Given the description of an element on the screen output the (x, y) to click on. 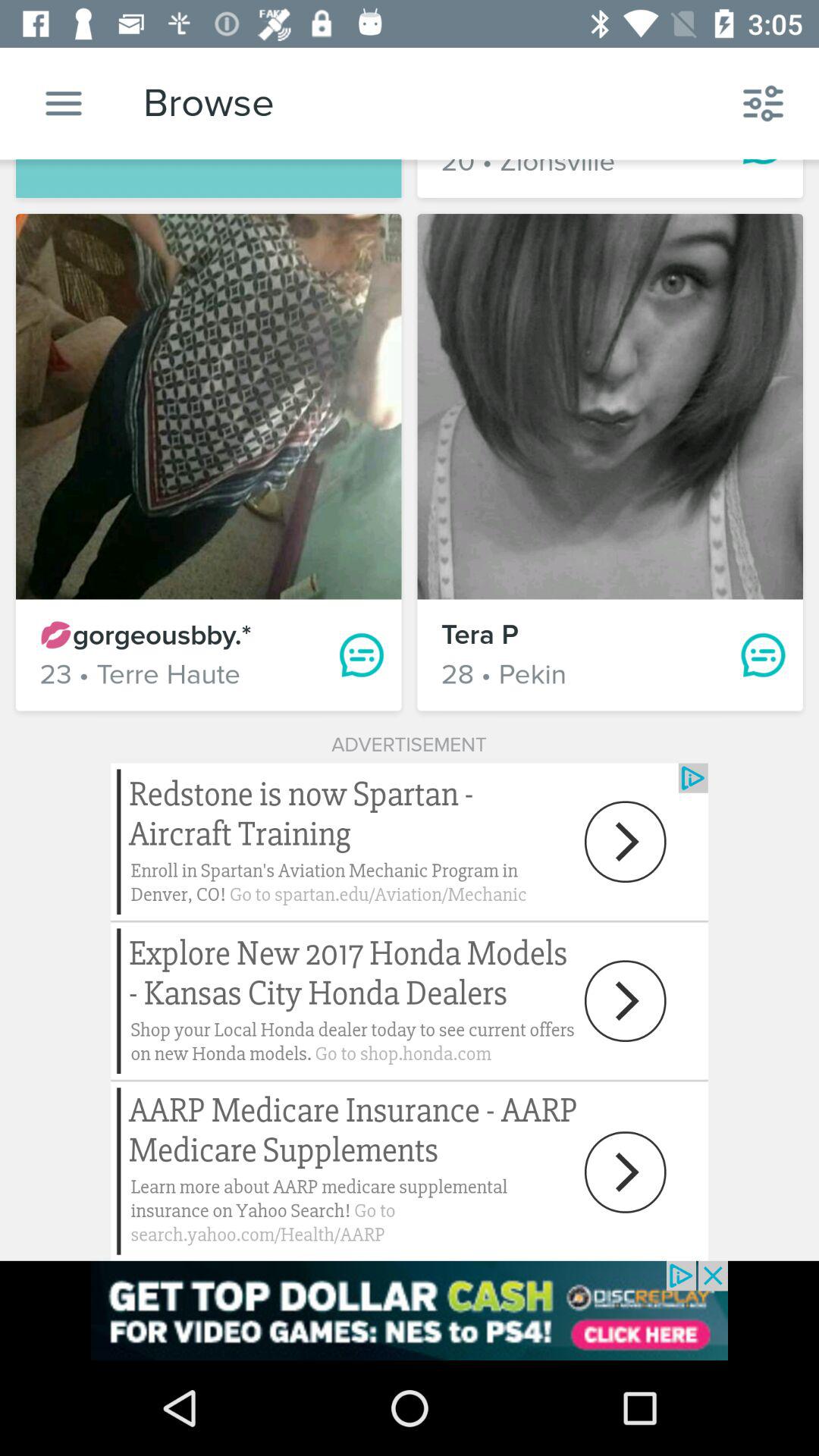
select user (610, 406)
